Given the description of an element on the screen output the (x, y) to click on. 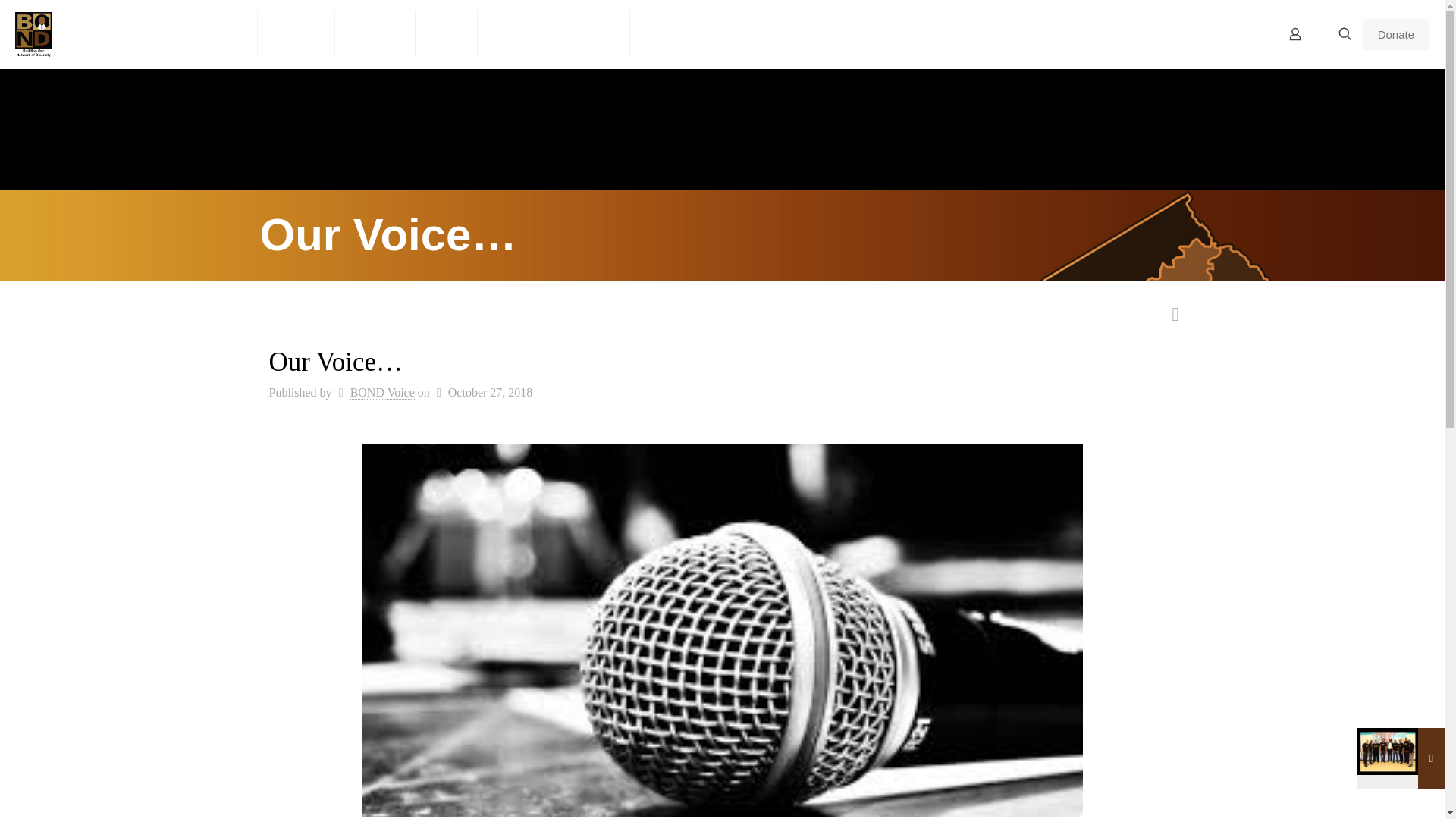
Shop (506, 33)
Programs (374, 33)
About Us (296, 33)
Contact (665, 33)
Home (226, 33)
Donate (1395, 33)
BOND Voice (382, 392)
Media (445, 33)
Bond Educators (93, 33)
Employment (581, 33)
